Given the description of an element on the screen output the (x, y) to click on. 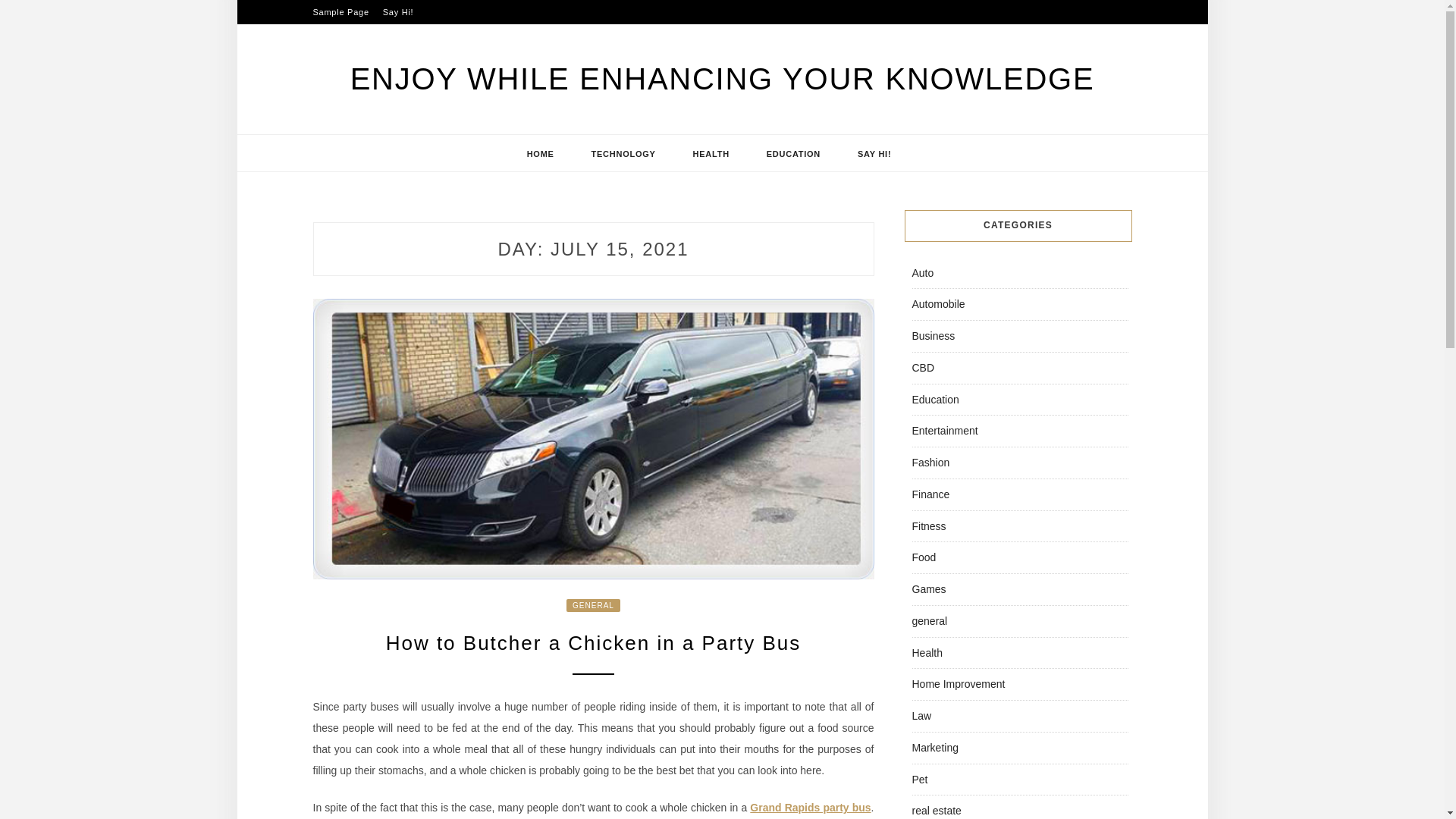
GENERAL (593, 604)
Home Improvement (957, 684)
Pet (919, 779)
ENJOY WHILE ENHANCING YOUR KNOWLEDGE (722, 78)
Entertainment (943, 430)
general (929, 621)
HEALTH (710, 153)
Food (923, 557)
Games (927, 589)
Fitness (927, 526)
Law (921, 715)
real estate (935, 810)
Business (933, 336)
EDUCATION (793, 153)
Automobile (937, 304)
